Given the description of an element on the screen output the (x, y) to click on. 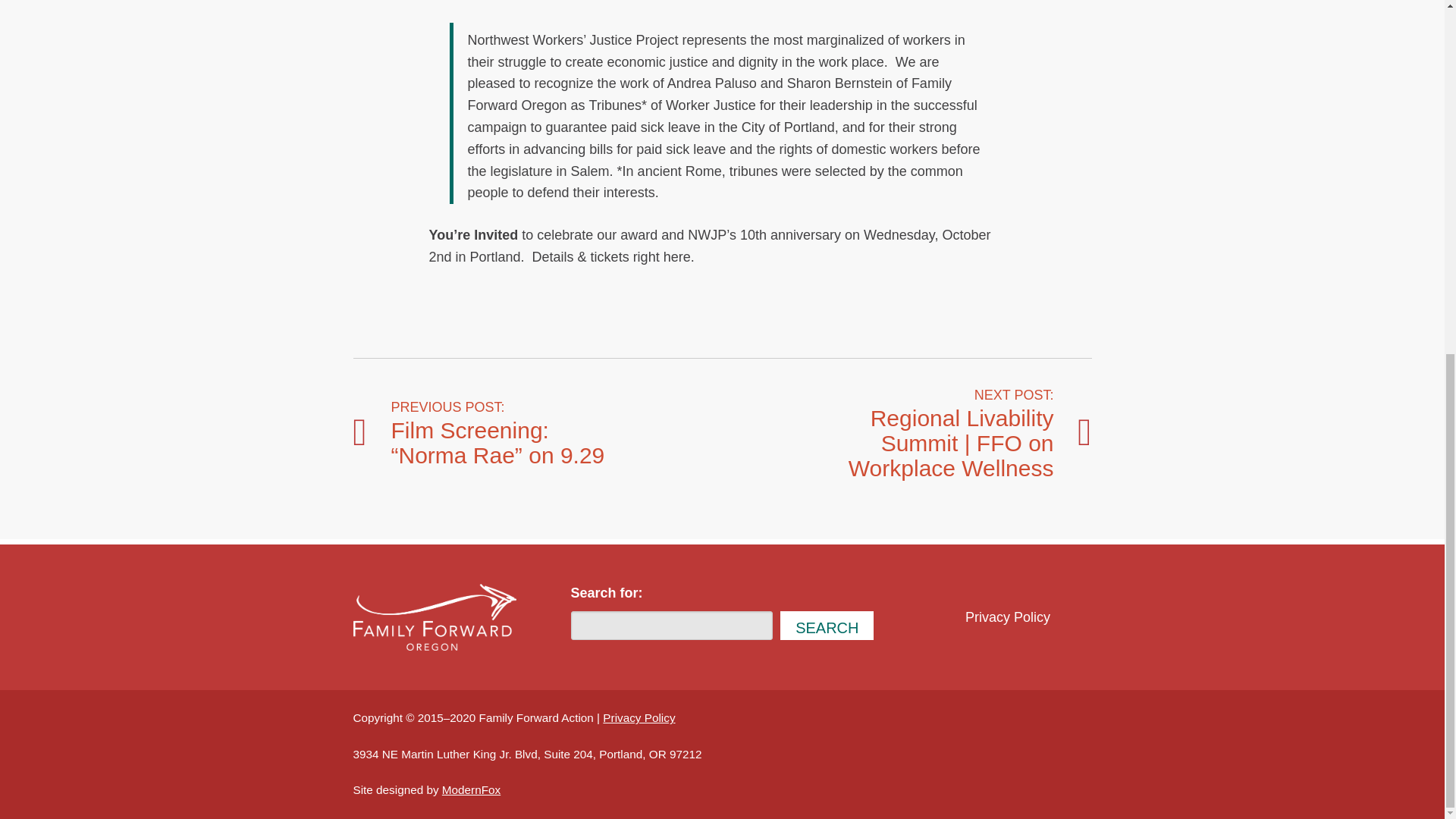
Privacy Policy (1007, 616)
Search (826, 624)
Search (826, 624)
Privacy Policy (638, 717)
ModernFox (471, 789)
